Given the description of an element on the screen output the (x, y) to click on. 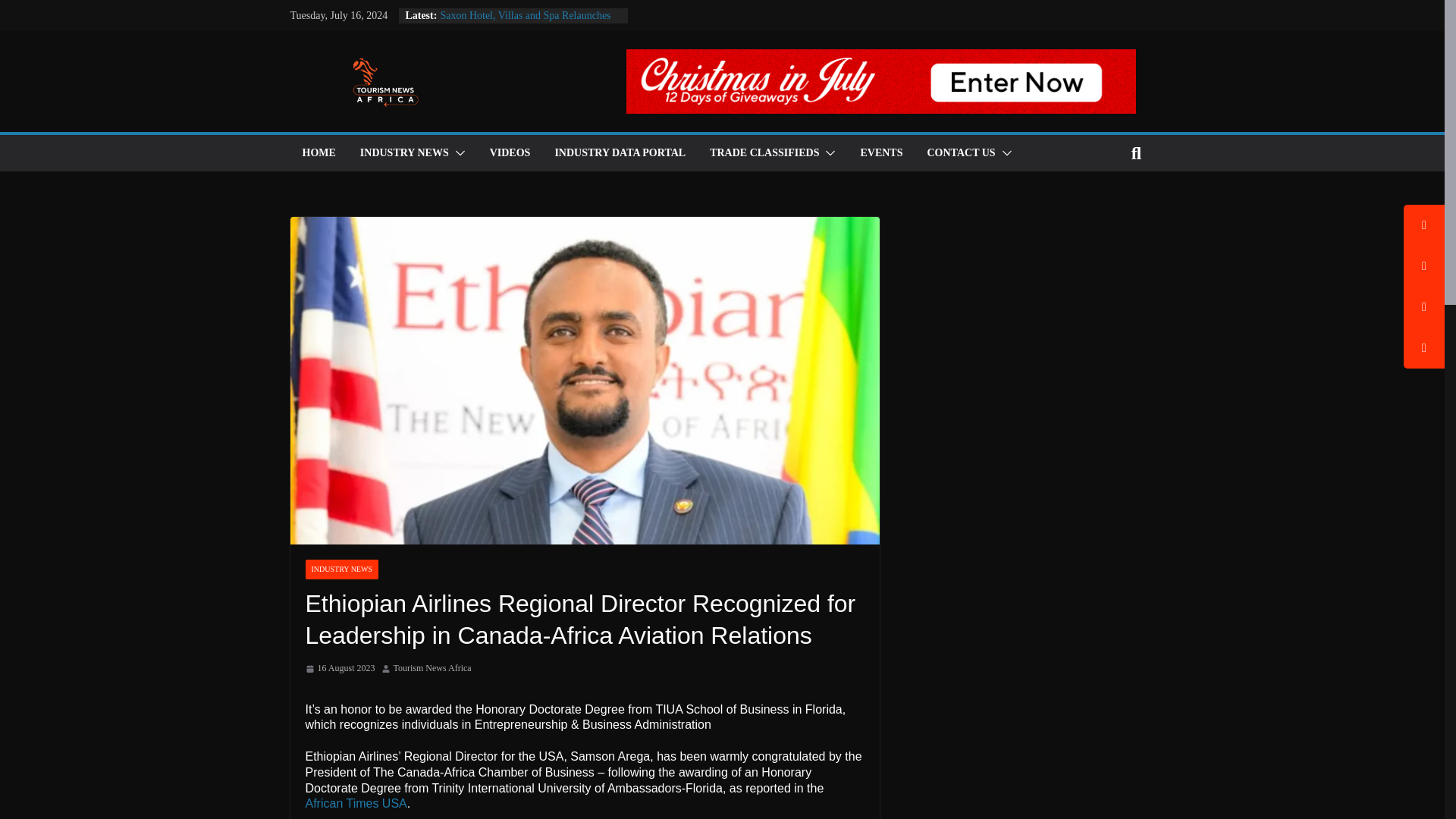
VIDEOS (510, 152)
Tourism News Africa (432, 668)
CONTACT US (960, 152)
INDUSTRY NEWS (403, 152)
8:16 am (339, 668)
INDUSTRY DATA PORTAL (619, 152)
HOME (317, 152)
EVENTS (881, 152)
TRADE CLASSIFIEDS (764, 152)
